Given the description of an element on the screen output the (x, y) to click on. 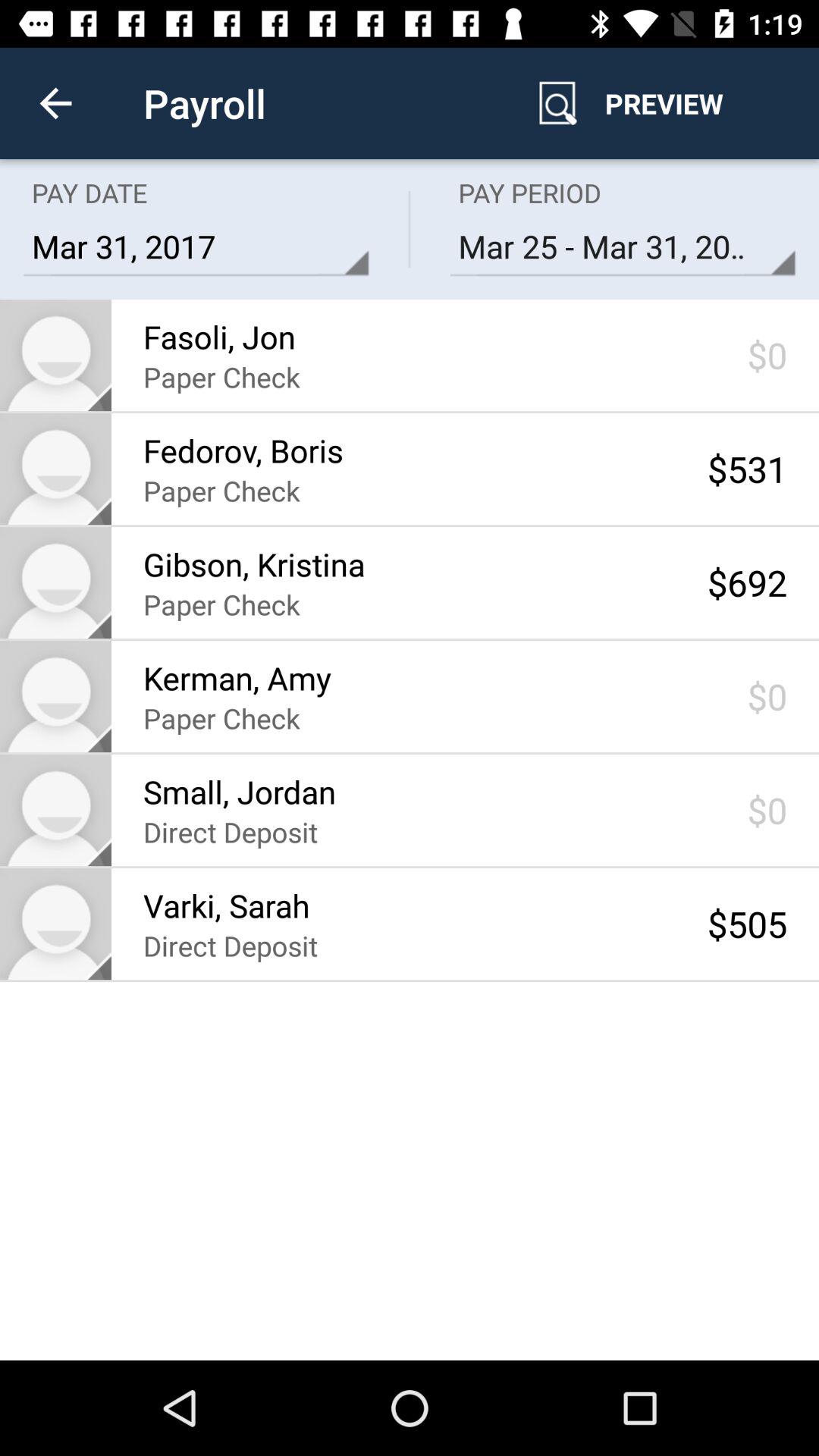
select the user (55, 582)
